Given the description of an element on the screen output the (x, y) to click on. 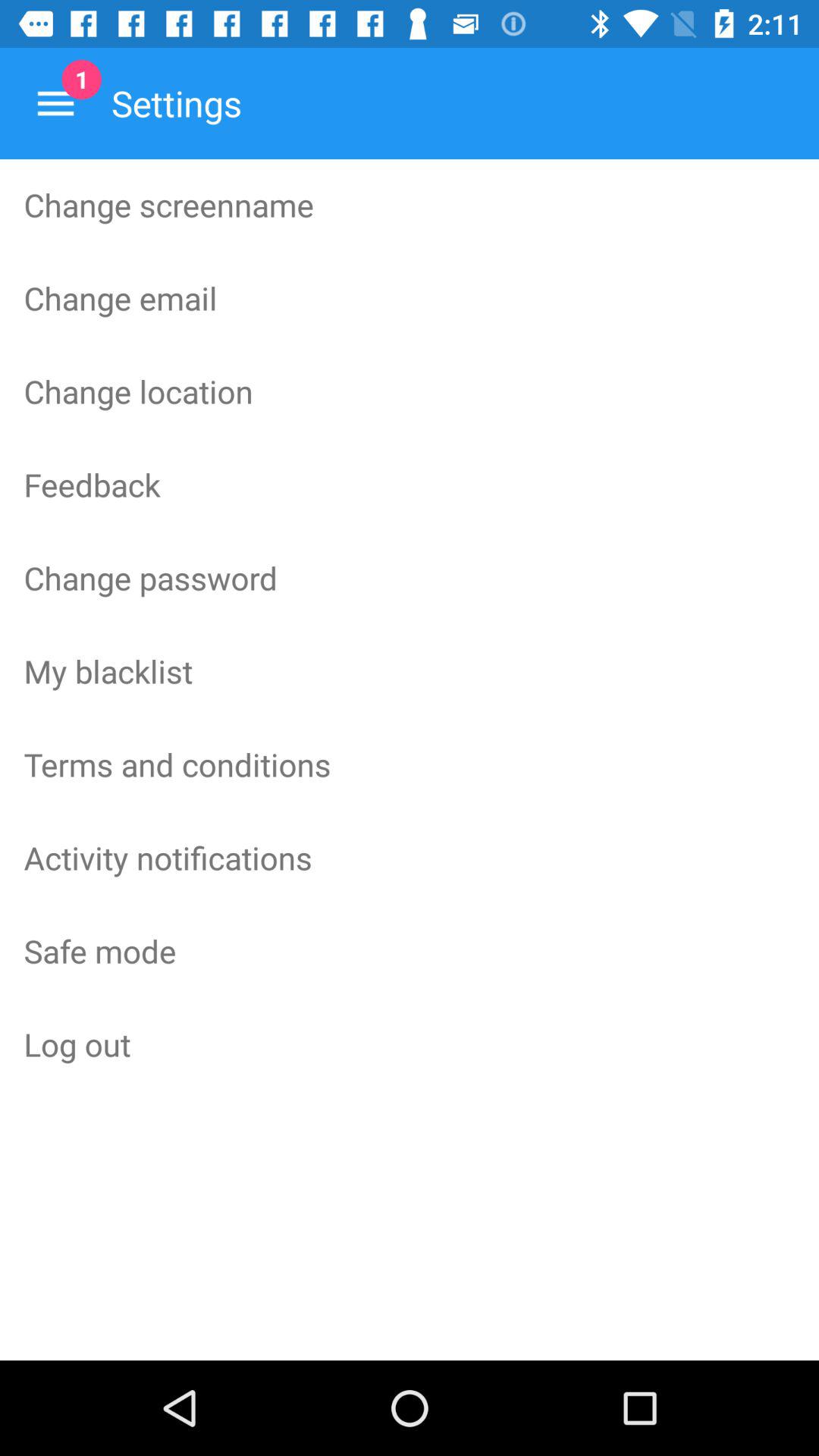
launch the change password (409, 577)
